Given the description of an element on the screen output the (x, y) to click on. 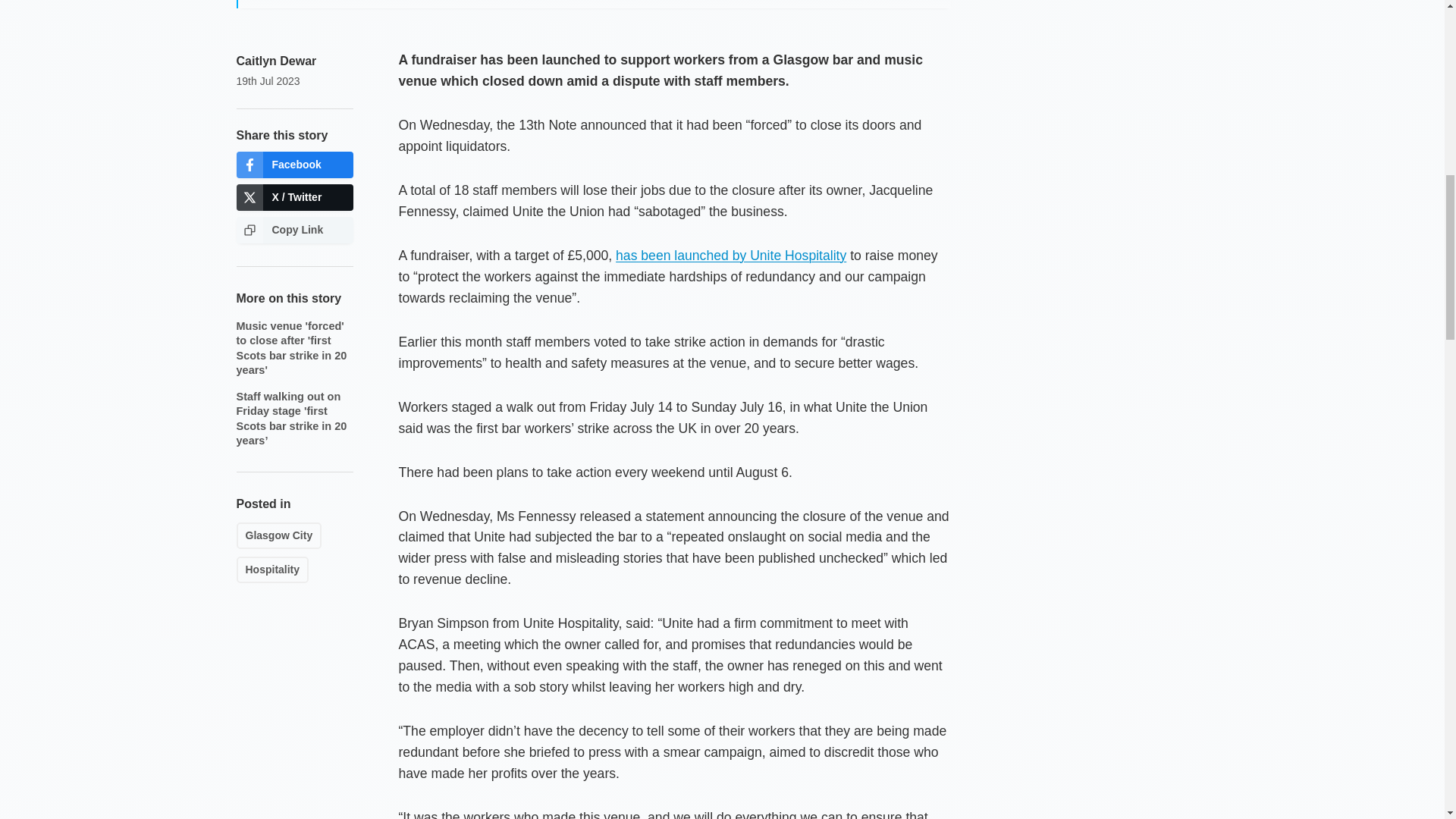
Facebook (294, 164)
Caitlyn Dewar (276, 60)
